Given the description of an element on the screen output the (x, y) to click on. 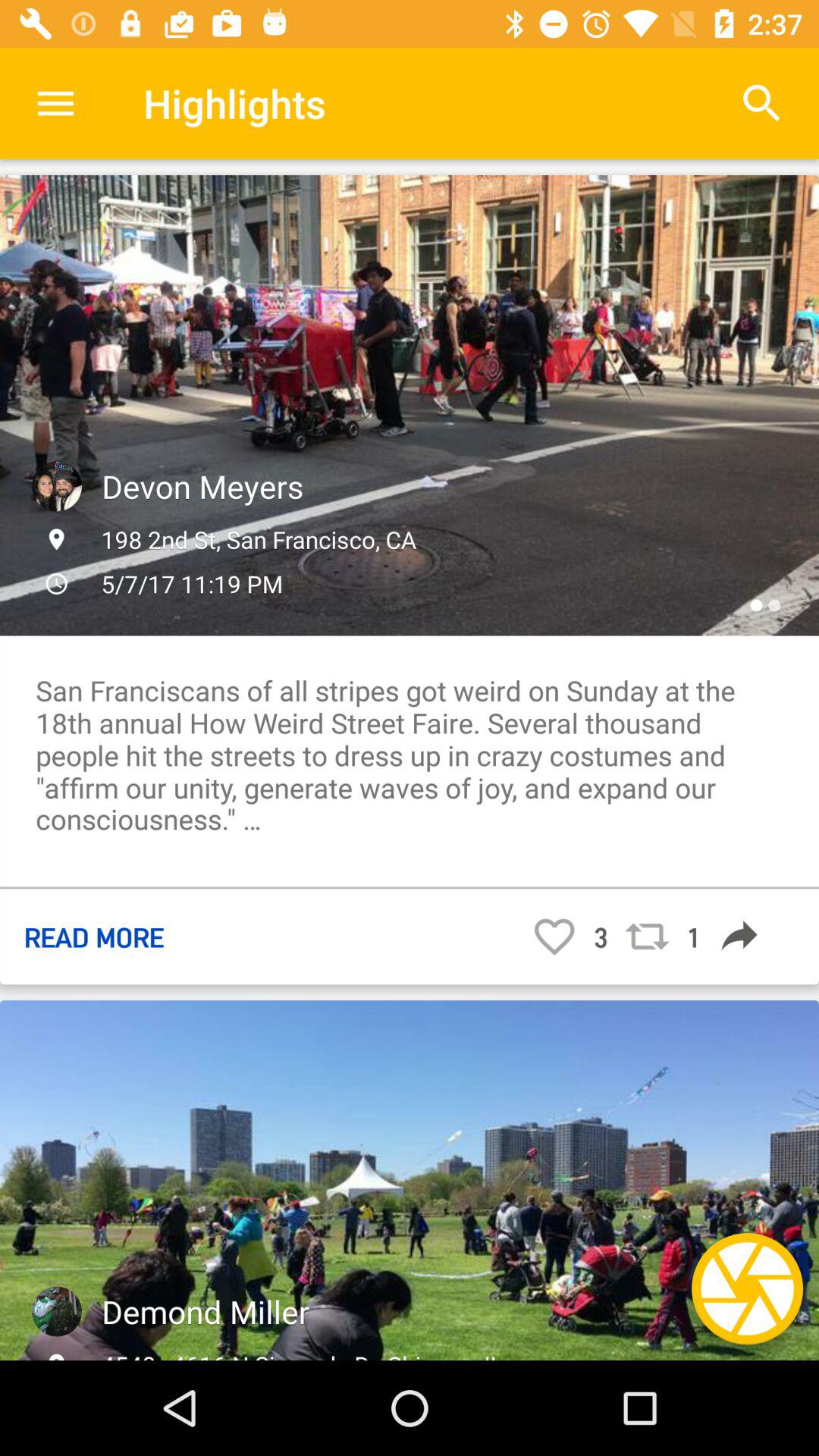
click on the share icon (739, 936)
select a profile picture which is before devon meyers (56, 486)
select the image which is to the left side of demond miller (56, 1311)
